Given the description of an element on the screen output the (x, y) to click on. 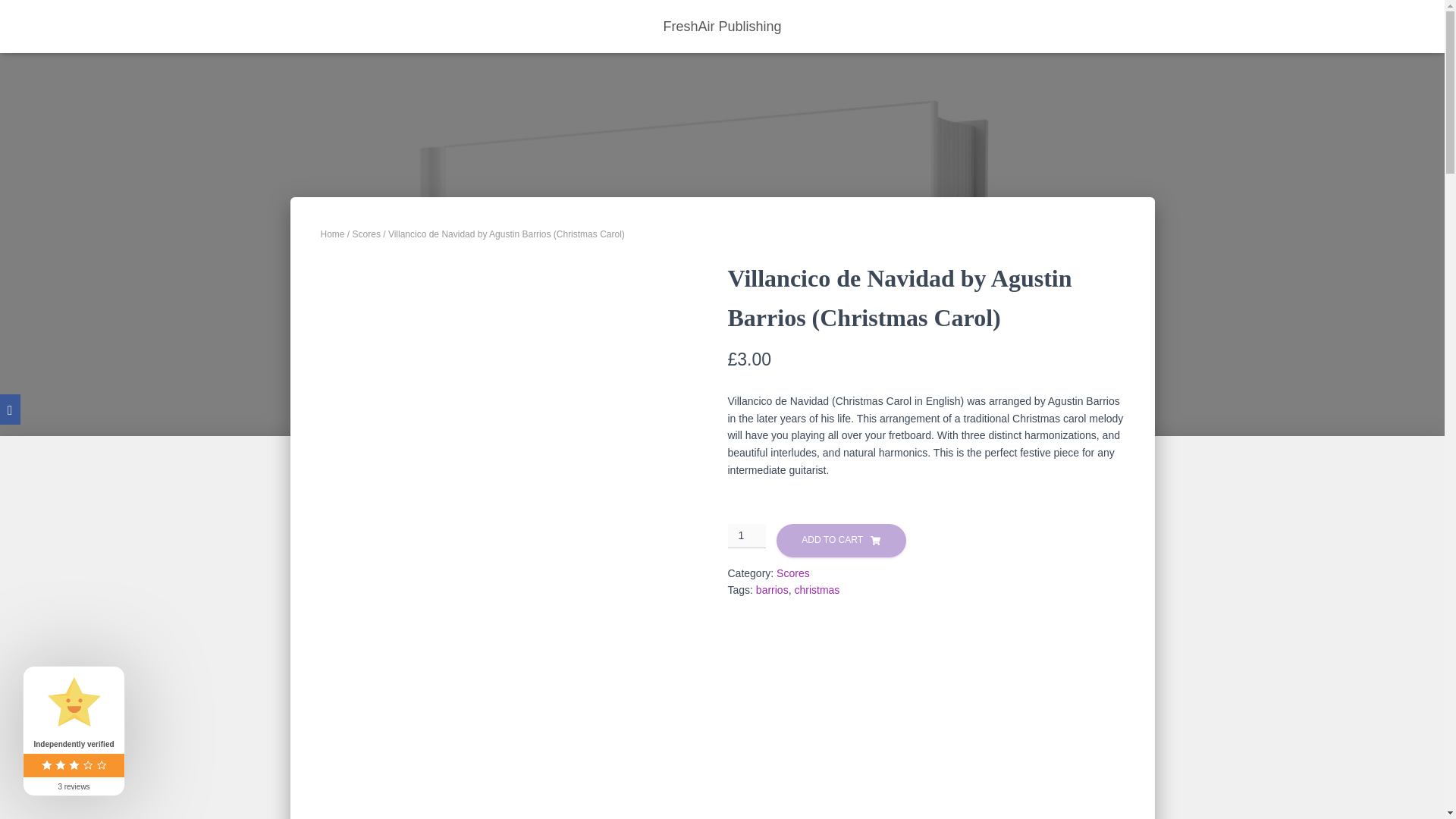
Scores (366, 234)
FreshAir Publishing (721, 26)
Home (331, 234)
DESCRIPTION (367, 817)
barrios (772, 589)
ADD TO CART (840, 540)
1 (747, 535)
christmas (816, 589)
Scores (792, 573)
FreshAir Publishing (721, 26)
